Given the description of an element on the screen output the (x, y) to click on. 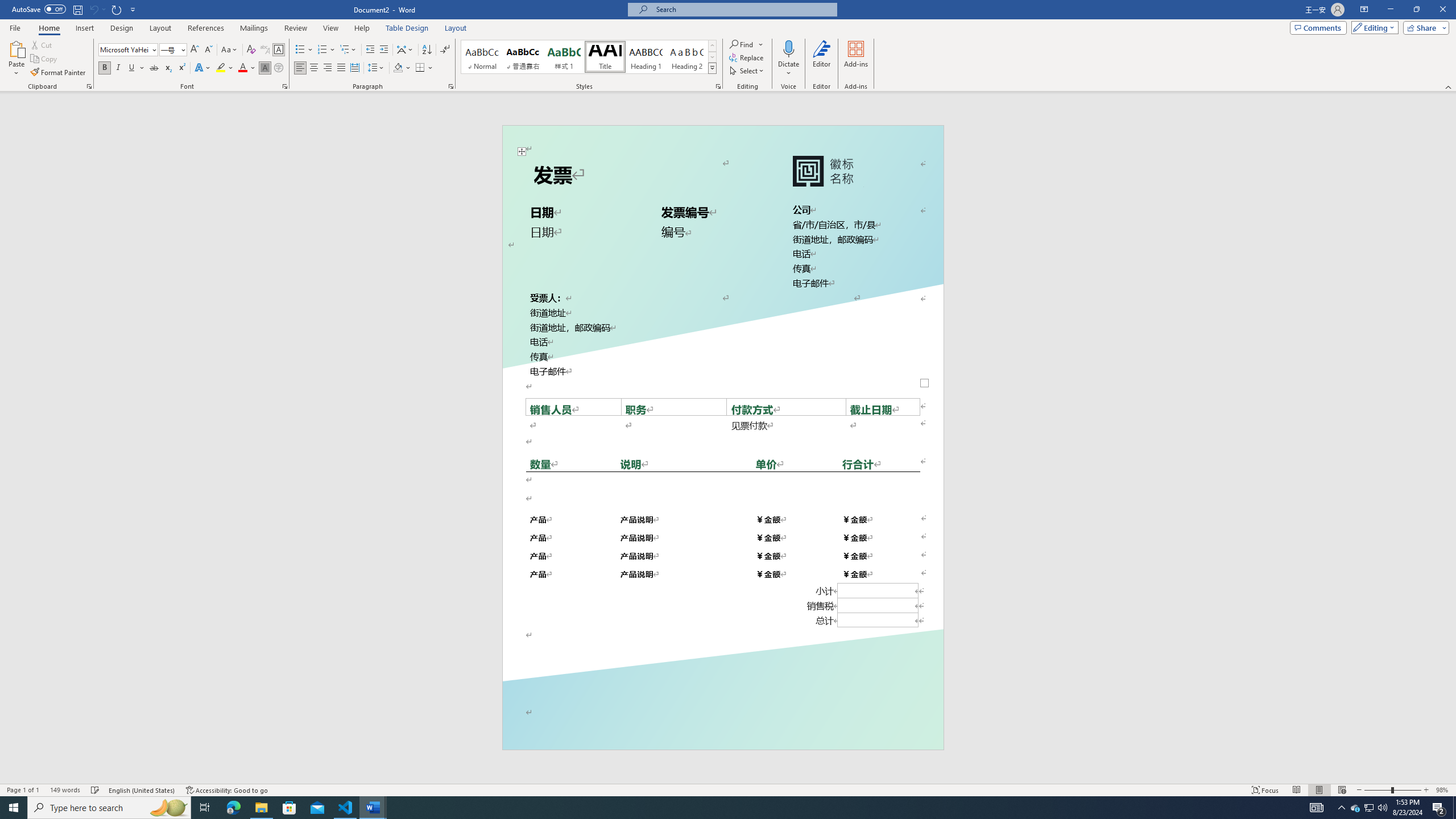
Superscript (180, 67)
Insert (83, 28)
Mailings (253, 28)
Increase Indent (383, 49)
Read Mode (1296, 790)
